Given the description of an element on the screen output the (x, y) to click on. 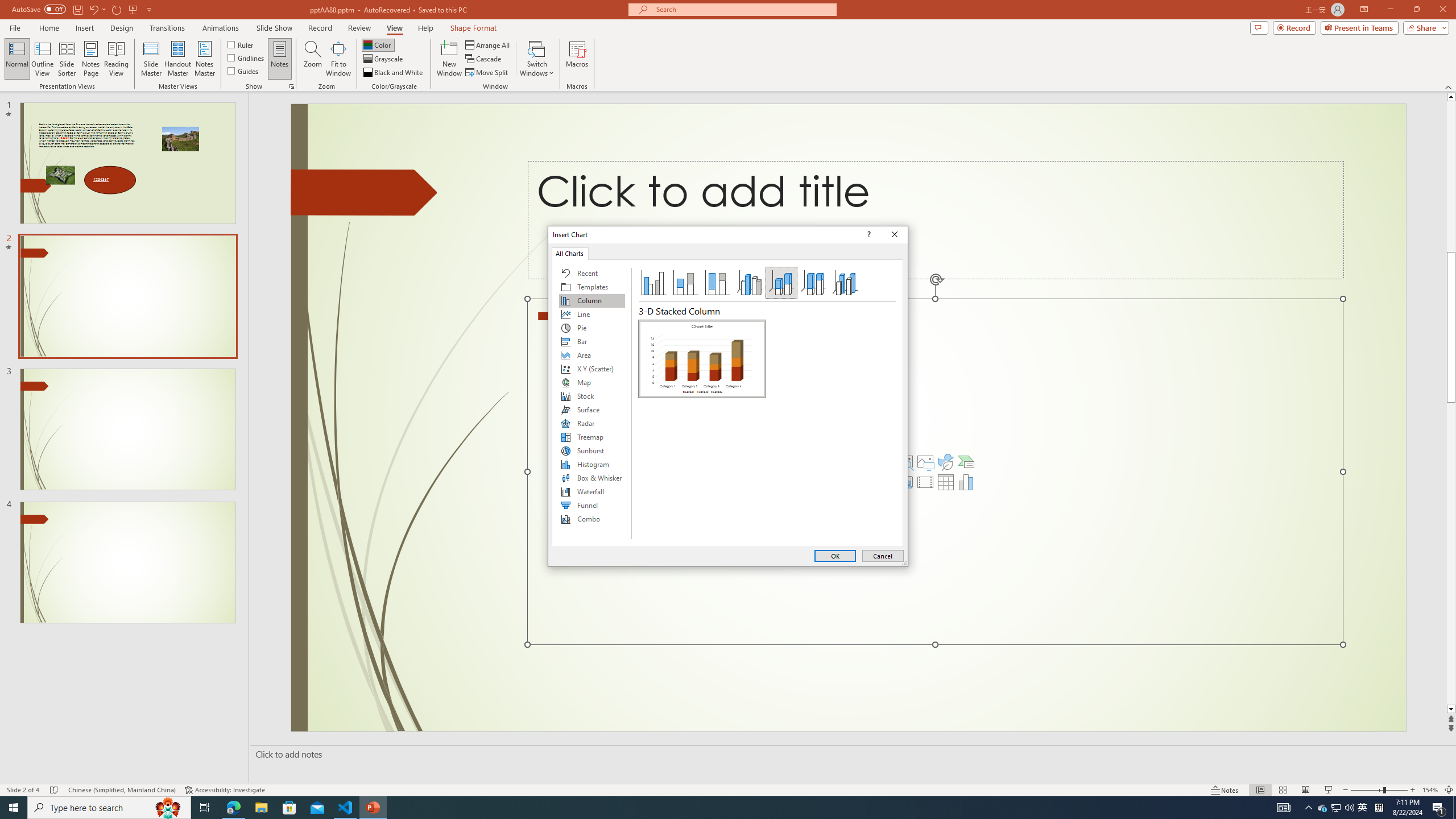
Zoom 154% (1430, 790)
Bar (591, 341)
Ruler (241, 44)
Outline View (42, 58)
Combo (591, 518)
Handout Master (177, 58)
